Given the description of an element on the screen output the (x, y) to click on. 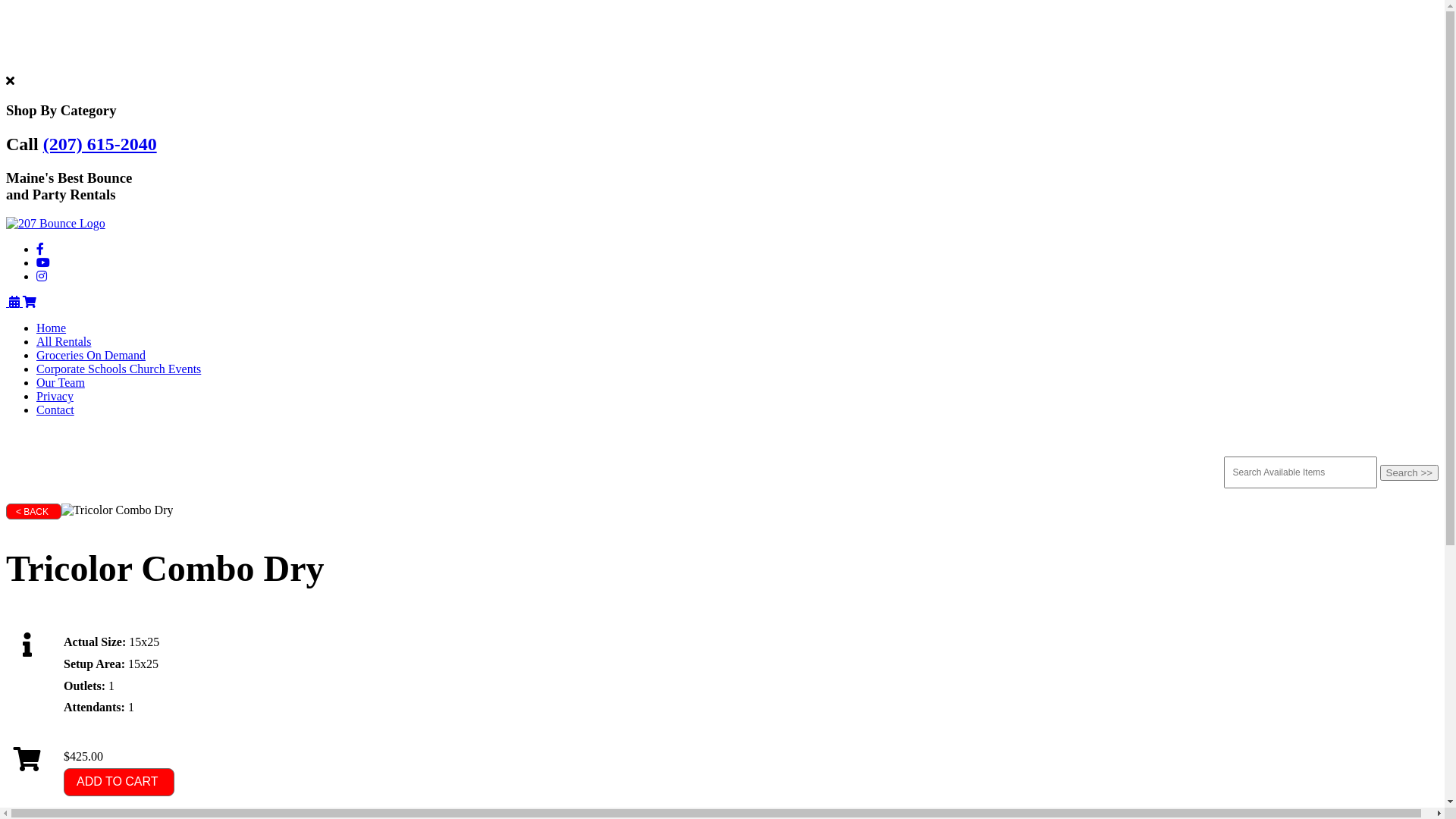
(207) 615-2040 Element type: text (99, 143)
Our Team Element type: text (60, 382)
Contact Element type: text (55, 409)
Search >> Element type: text (1409, 472)
ADD TO CART Element type: text (118, 782)
Home Element type: text (50, 327)
Privacy Element type: text (54, 395)
Tricolor Combo Dry Element type: hover (117, 510)
Corporate Schools Church Events Element type: text (118, 368)
Groceries On Demand Element type: text (90, 354)
All Rentals Element type: text (63, 341)
< BACK Element type: text (33, 511)
